Given the description of an element on the screen output the (x, y) to click on. 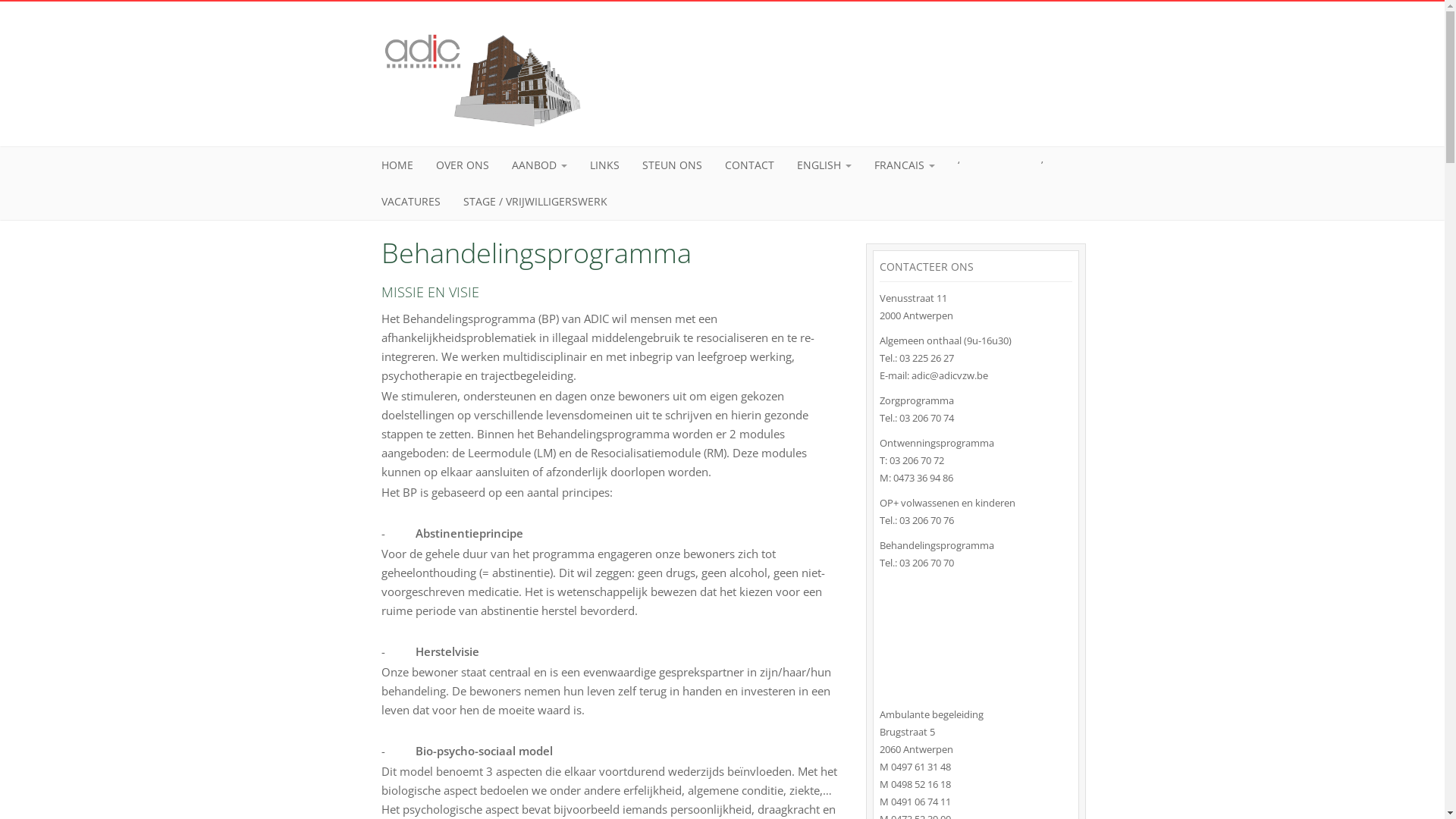
STAGE / VRIJWILLIGERSWERK Element type: text (534, 201)
FRANCAIS Element type: text (904, 165)
HOME Element type: text (397, 165)
LINKS Element type: text (603, 165)
OVER ONS Element type: text (462, 165)
VACATURES Element type: text (410, 201)
STEUN ONS Element type: text (671, 165)
CONTACT Element type: text (748, 165)
ENGLISH Element type: text (823, 165)
AANBOD Element type: text (539, 165)
